Given the description of an element on the screen output the (x, y) to click on. 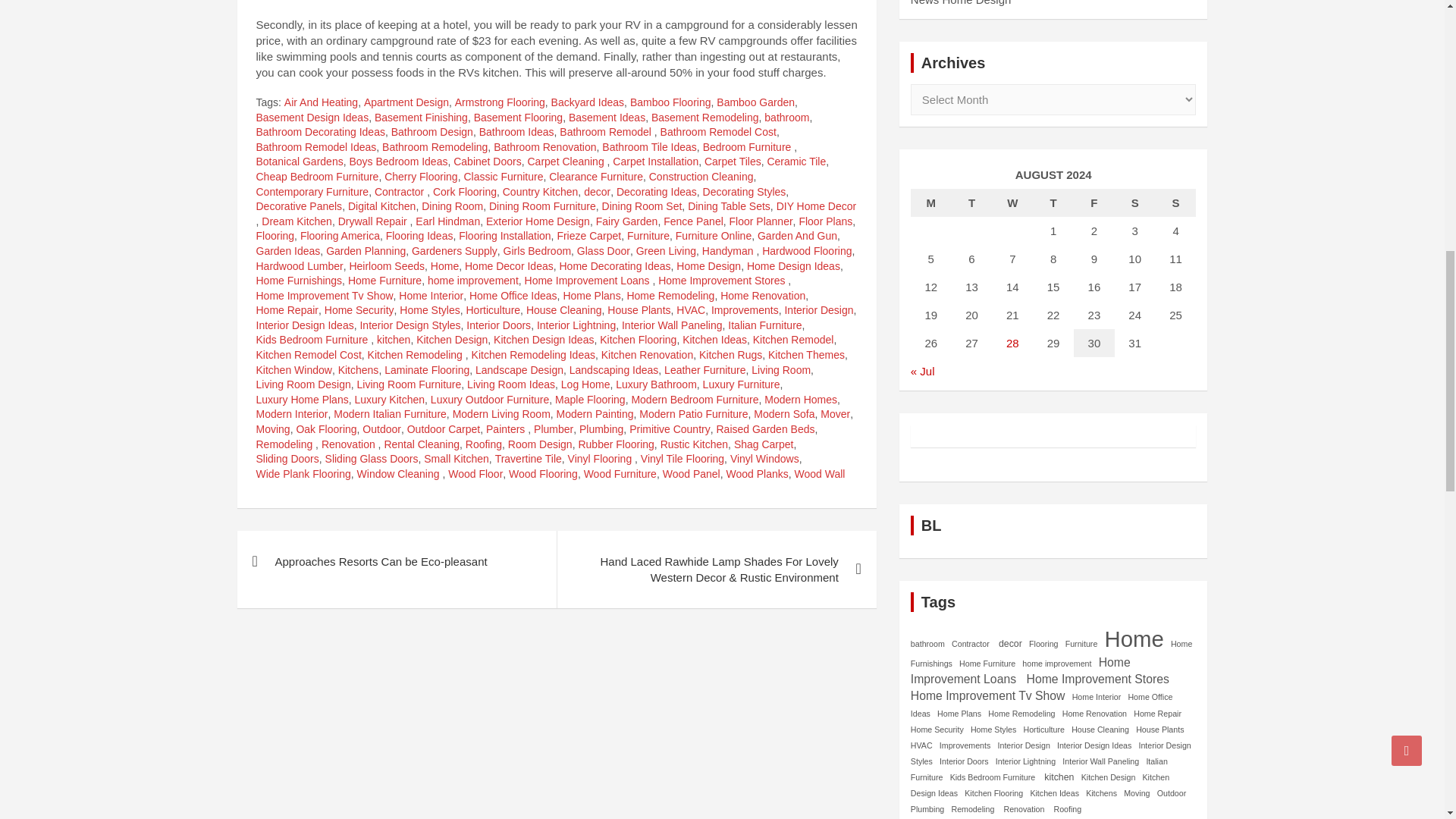
Bathroom Remodel Cost (718, 132)
Thursday (1053, 203)
Bathroom Remodeling (434, 147)
Backyard Ideas (587, 102)
Bathroom Remodel Ideas (316, 147)
Sunday (1176, 203)
Basement Design Ideas (312, 118)
Saturday (1135, 203)
Basement Remodeling (704, 118)
Basement Flooring (518, 118)
